Given the description of an element on the screen output the (x, y) to click on. 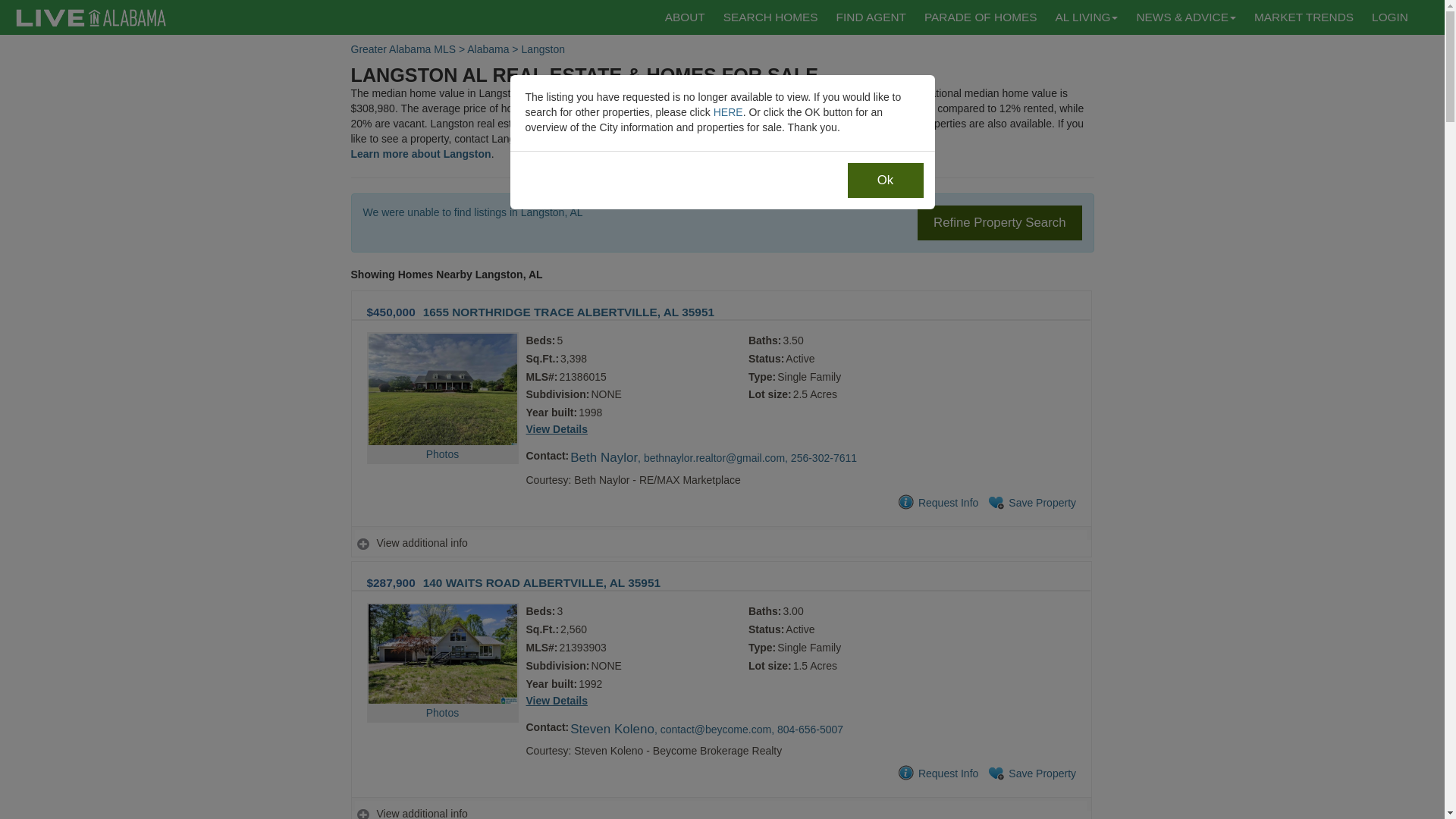
Greater Alabama MLS (402, 49)
SEARCH HOMES (770, 17)
View property remarks and map (720, 542)
View Details (556, 700)
Request Info (936, 774)
AL LIVING (1085, 17)
1655 NORTHRIDGE TRACE ALBERTVILLE, AL 35951 (568, 311)
View property remarks and map (720, 813)
MARKET TRENDS (1303, 17)
Photos (442, 682)
